Given the description of an element on the screen output the (x, y) to click on. 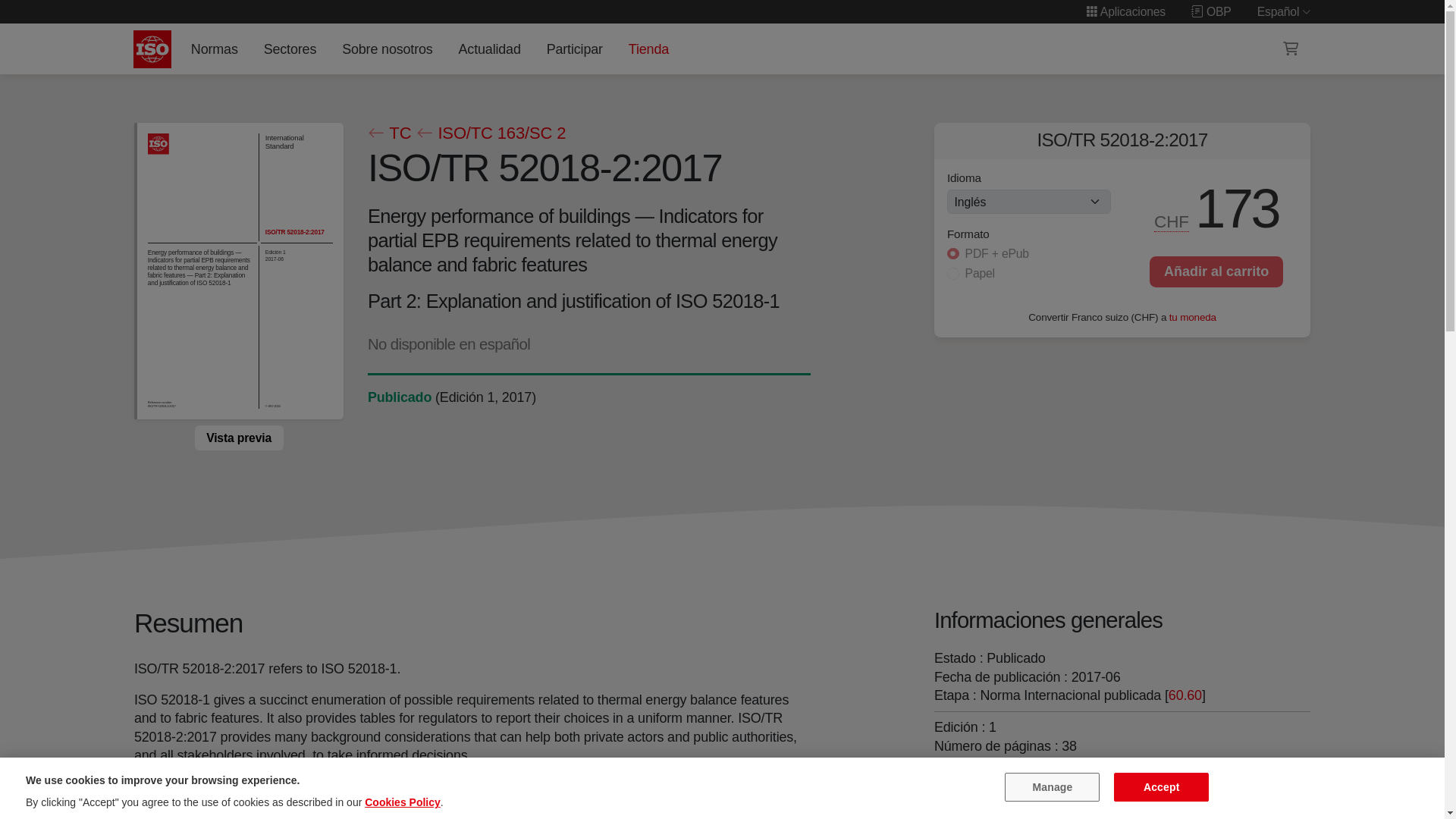
 OBP (1211, 11)
Calculation methods (1089, 777)
Publicado (398, 396)
TC (388, 133)
Tienda (648, 48)
tu moneda (1192, 316)
Sectores (290, 48)
Portal de aplicaciones de ISO (1126, 11)
60.60 (1185, 694)
Ciclo de vida (398, 396)
Vista previa (237, 437)
